Given the description of an element on the screen output the (x, y) to click on. 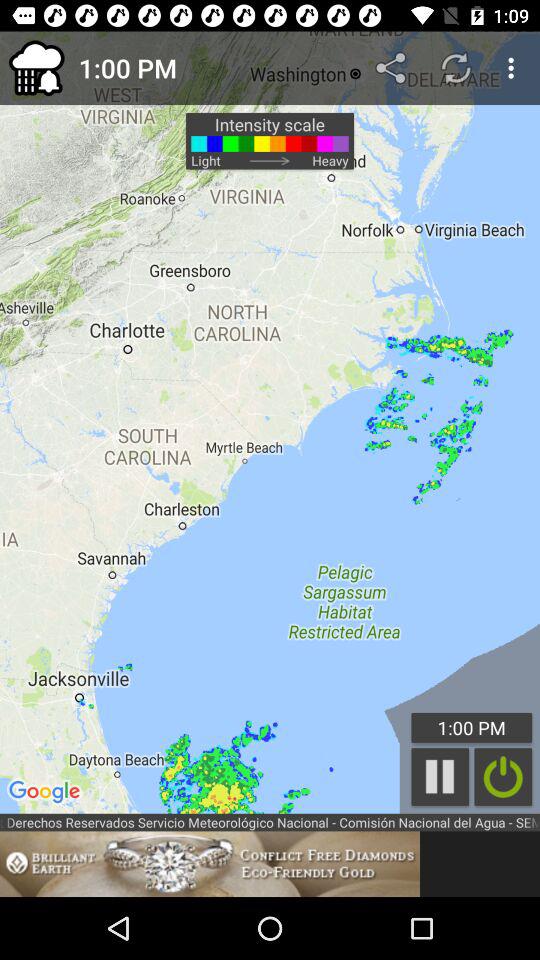
open advertisement (210, 864)
